Given the description of an element on the screen output the (x, y) to click on. 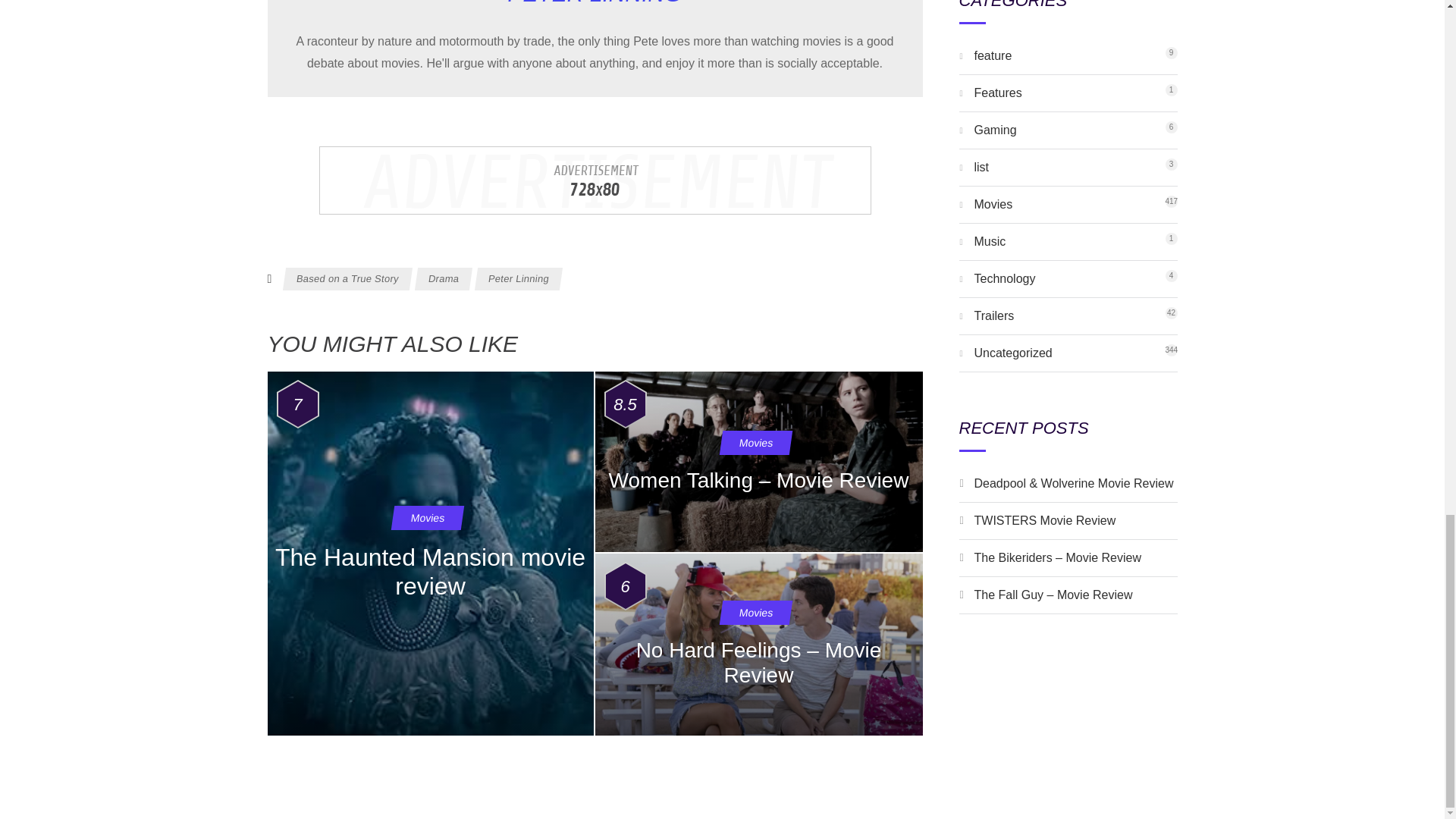
Based on a True Story (981, 166)
Posts by Peter Linning (345, 278)
Peter Linning (593, 2)
PETER LINNING (992, 55)
Drama (429, 553)
